Given the description of an element on the screen output the (x, y) to click on. 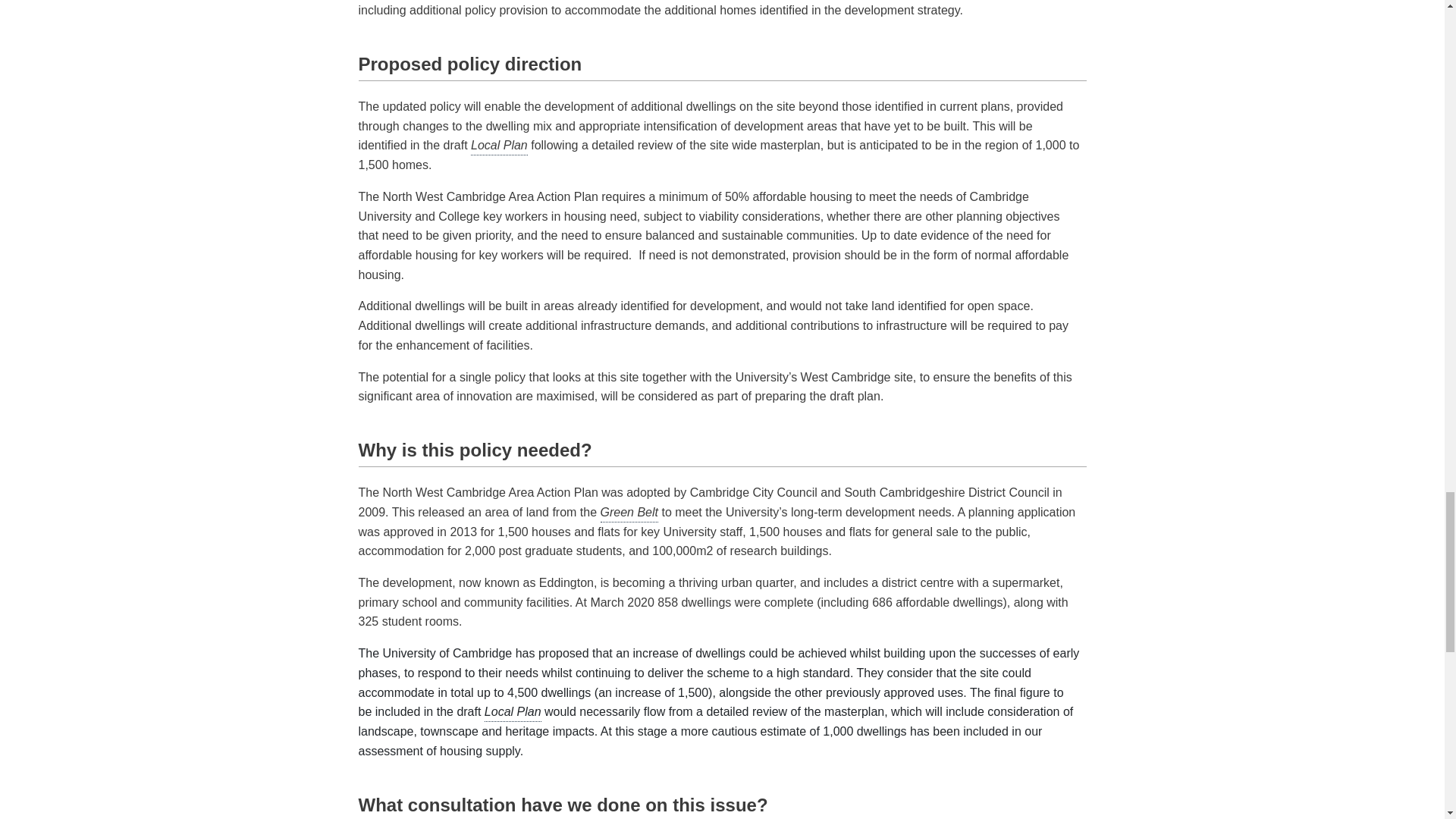
Green Belt (628, 512)
Local Plan (512, 711)
Local Plan (498, 145)
